Given the description of an element on the screen output the (x, y) to click on. 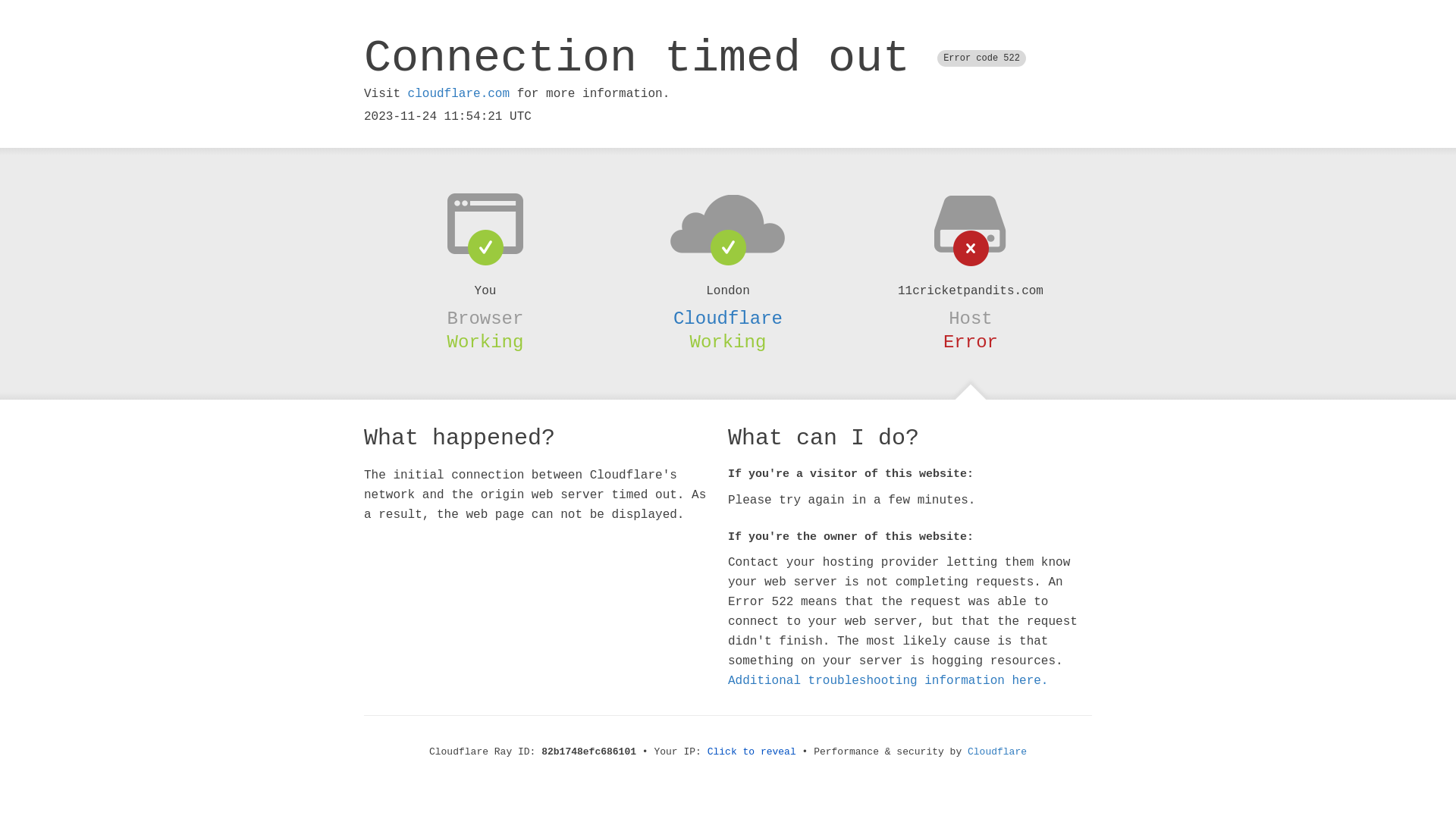
Additional troubleshooting information here. Element type: text (888, 680)
Click to reveal Element type: text (751, 751)
Cloudflare Element type: text (727, 318)
Cloudflare Element type: text (996, 751)
cloudflare.com Element type: text (458, 93)
